Given the description of an element on the screen output the (x, y) to click on. 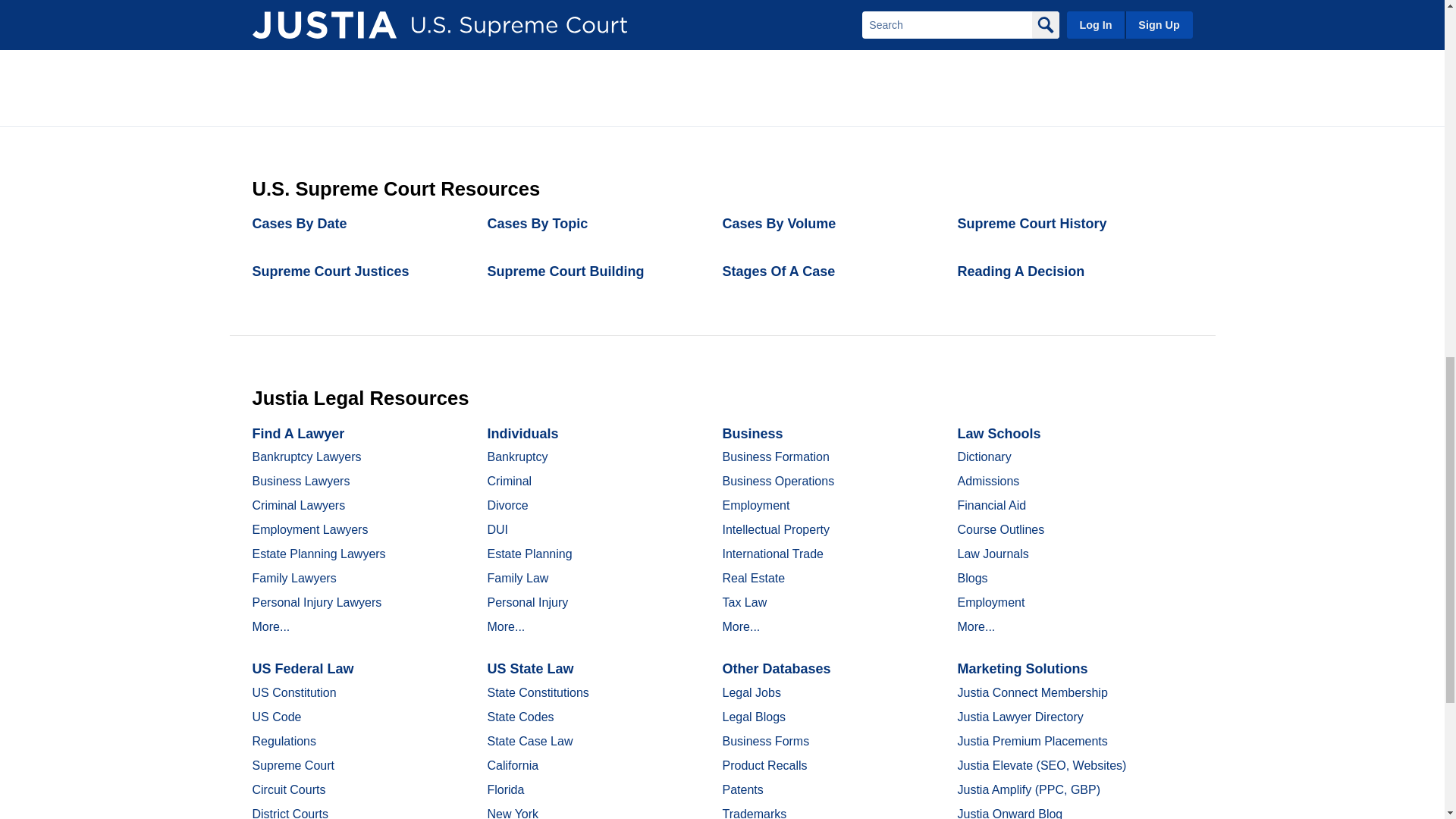
Law - Google Web (861, 4)
Law - Google News (1026, 4)
Law - Google Books (704, 4)
Law - Google Scholar (546, 4)
